Given the description of an element on the screen output the (x, y) to click on. 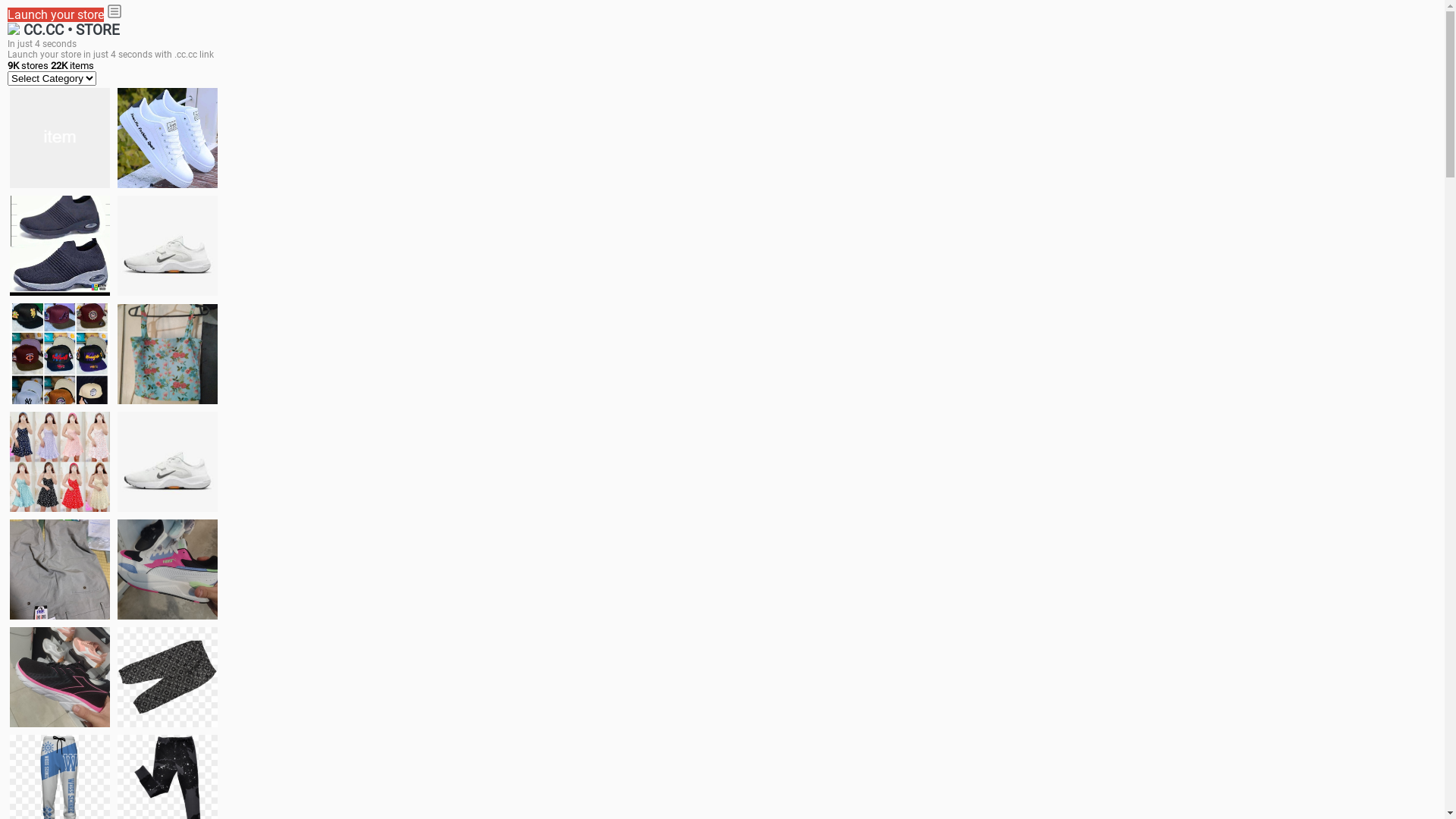
white shoes Element type: hover (167, 137)
Zapatillas pumas Element type: hover (167, 568)
Ukay cloth Element type: hover (167, 353)
Shoes Element type: hover (167, 461)
jacket Element type: hover (59, 137)
Shoes for boys Element type: hover (167, 245)
shoes for boys Element type: hover (59, 245)
Short pant Element type: hover (167, 676)
Launch your store Element type: text (55, 14)
Things we need Element type: hover (59, 353)
Zapatillas Element type: hover (59, 677)
Dress/square nect top Element type: hover (59, 461)
